Given the description of an element on the screen output the (x, y) to click on. 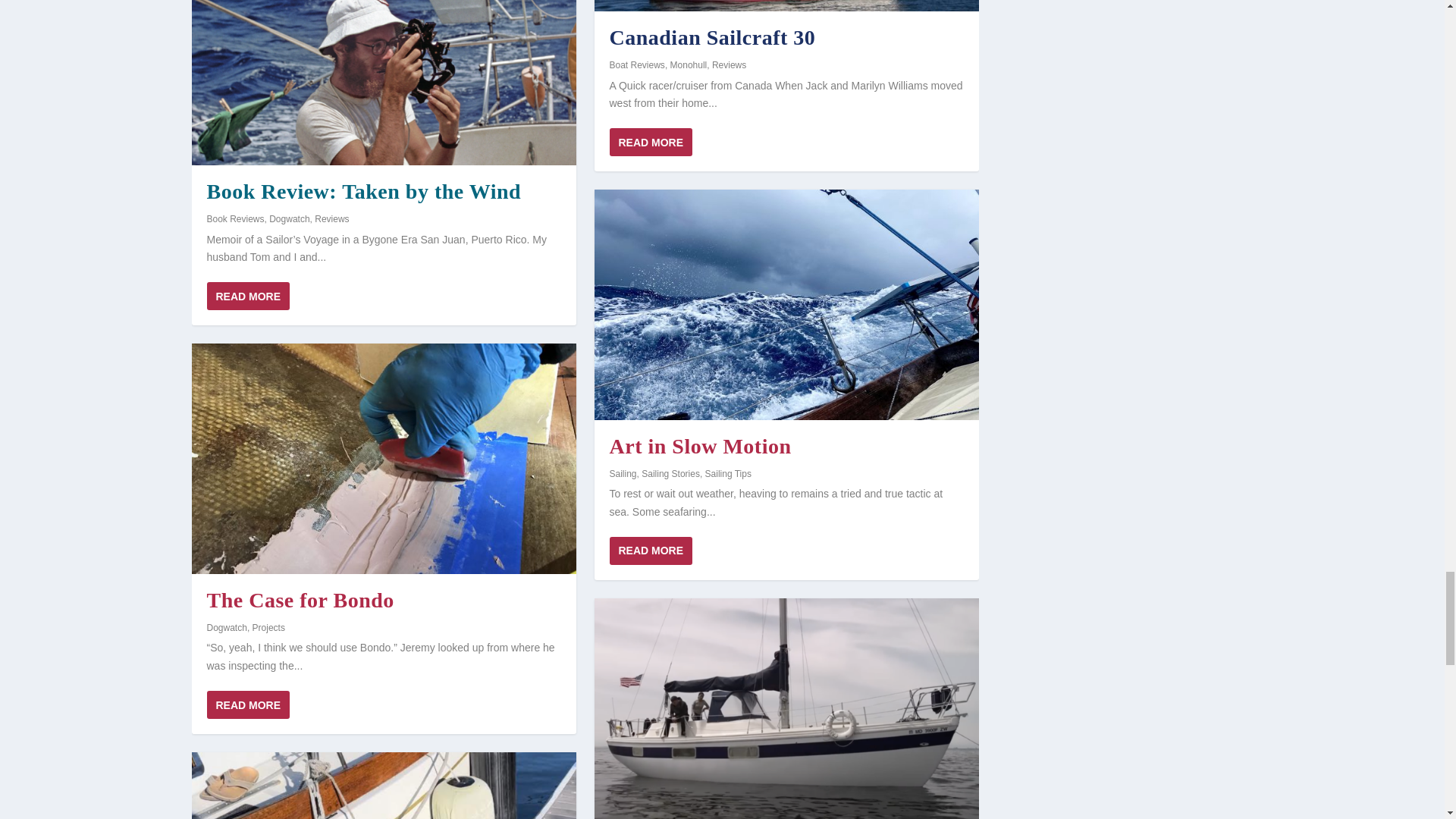
No Fender Covers? No Problem! (382, 785)
The Case for Bondo (382, 458)
Book Review: Taken by the Wind (382, 82)
